Given the description of an element on the screen output the (x, y) to click on. 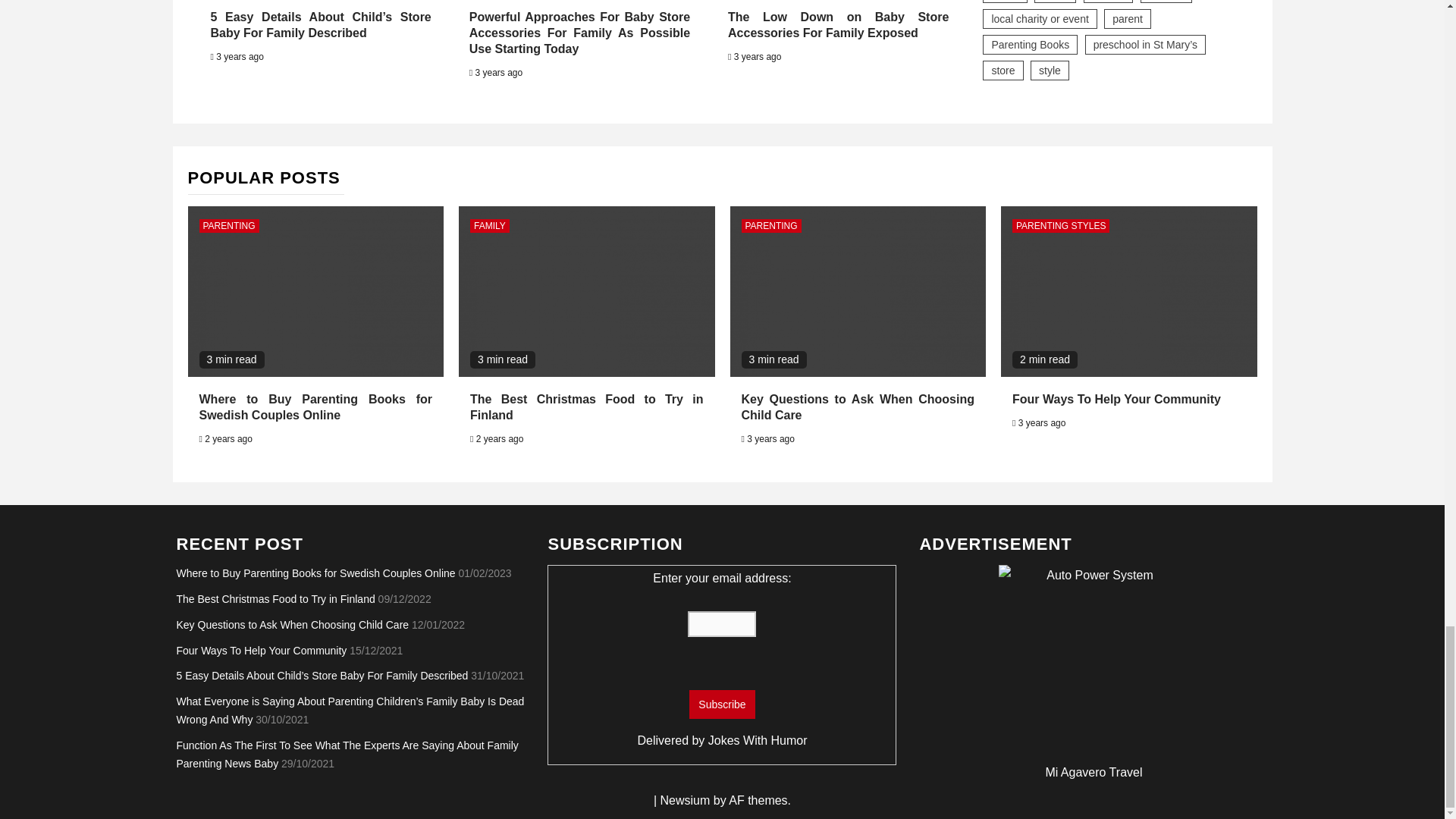
Where to Buy Parenting Books for Swedish Couples Online 18 (315, 291)
Subscribe (721, 704)
The Low Down on Baby Store Accessories For Family Exposed (838, 24)
